Given the description of an element on the screen output the (x, y) to click on. 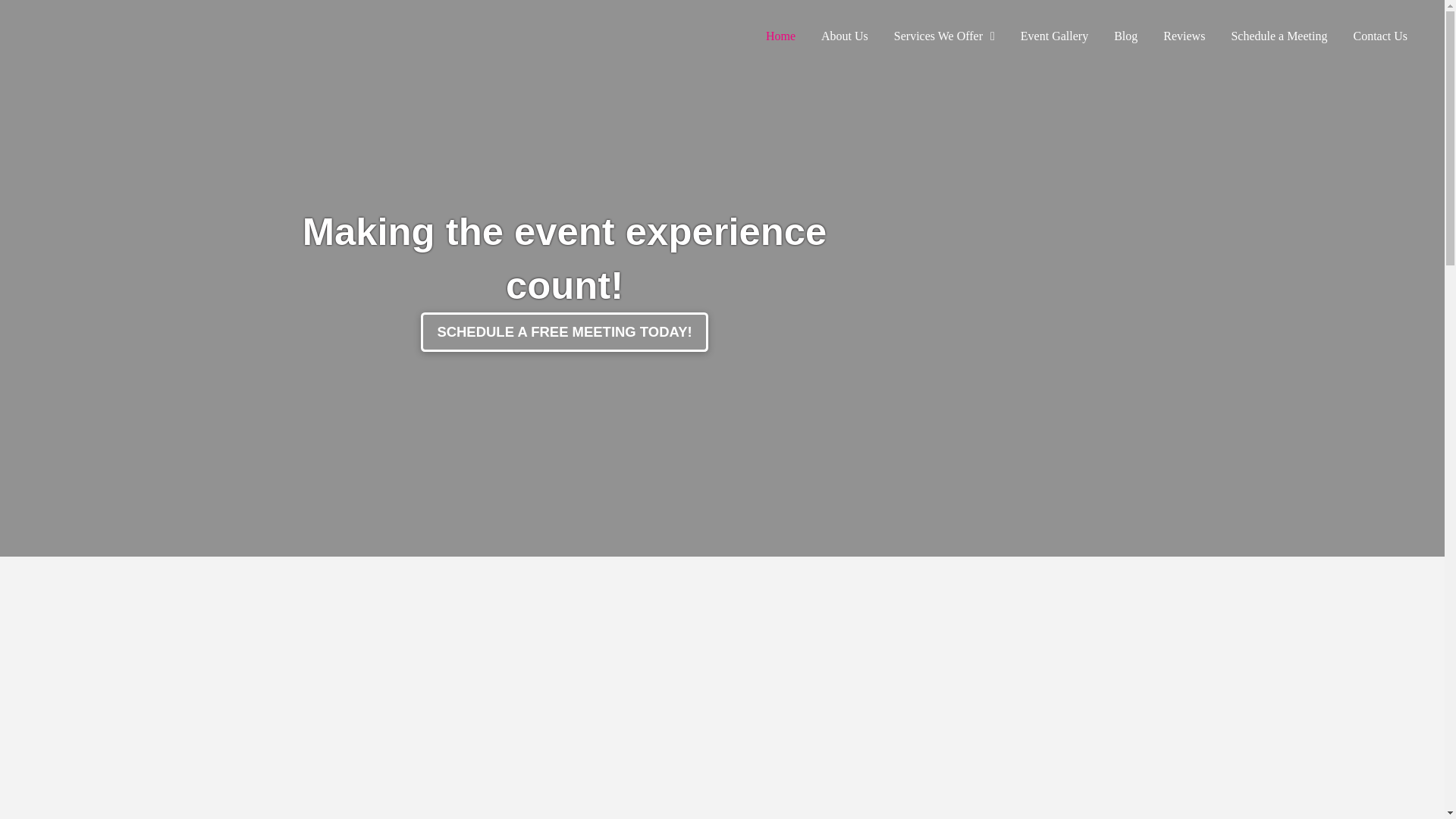
Contact Us (1380, 36)
About Us (844, 36)
Reviews (1183, 36)
Event Gallery (1053, 36)
Schedule a Meeting (1278, 36)
SCHEDULE A FREE MEETING TODAY! (563, 332)
Services We Offer (943, 36)
